Given the description of an element on the screen output the (x, y) to click on. 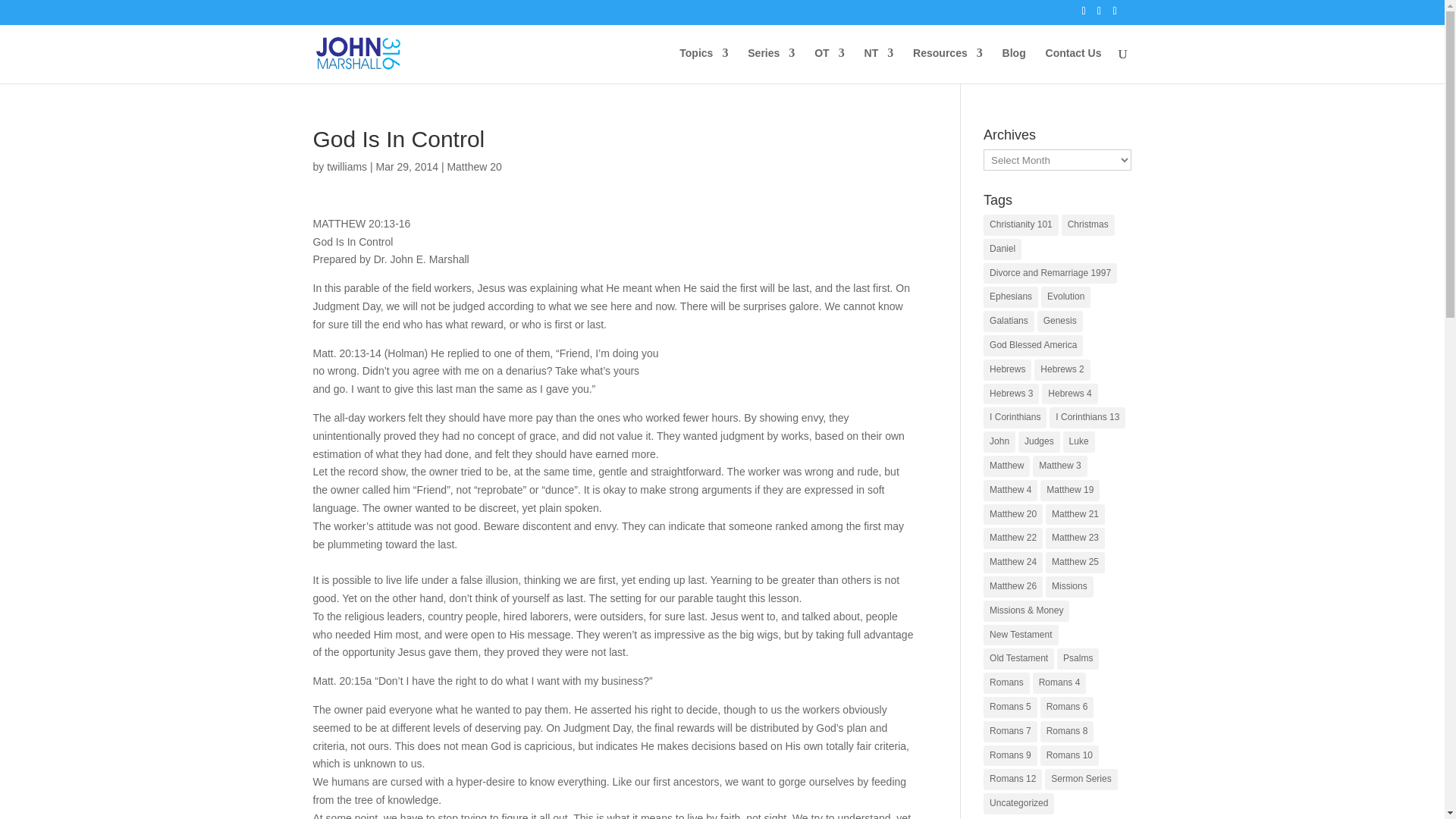
Contact Us (1073, 65)
Series (771, 65)
Resources (947, 65)
Topics (703, 65)
Posts by twilliams (346, 166)
